Given the description of an element on the screen output the (x, y) to click on. 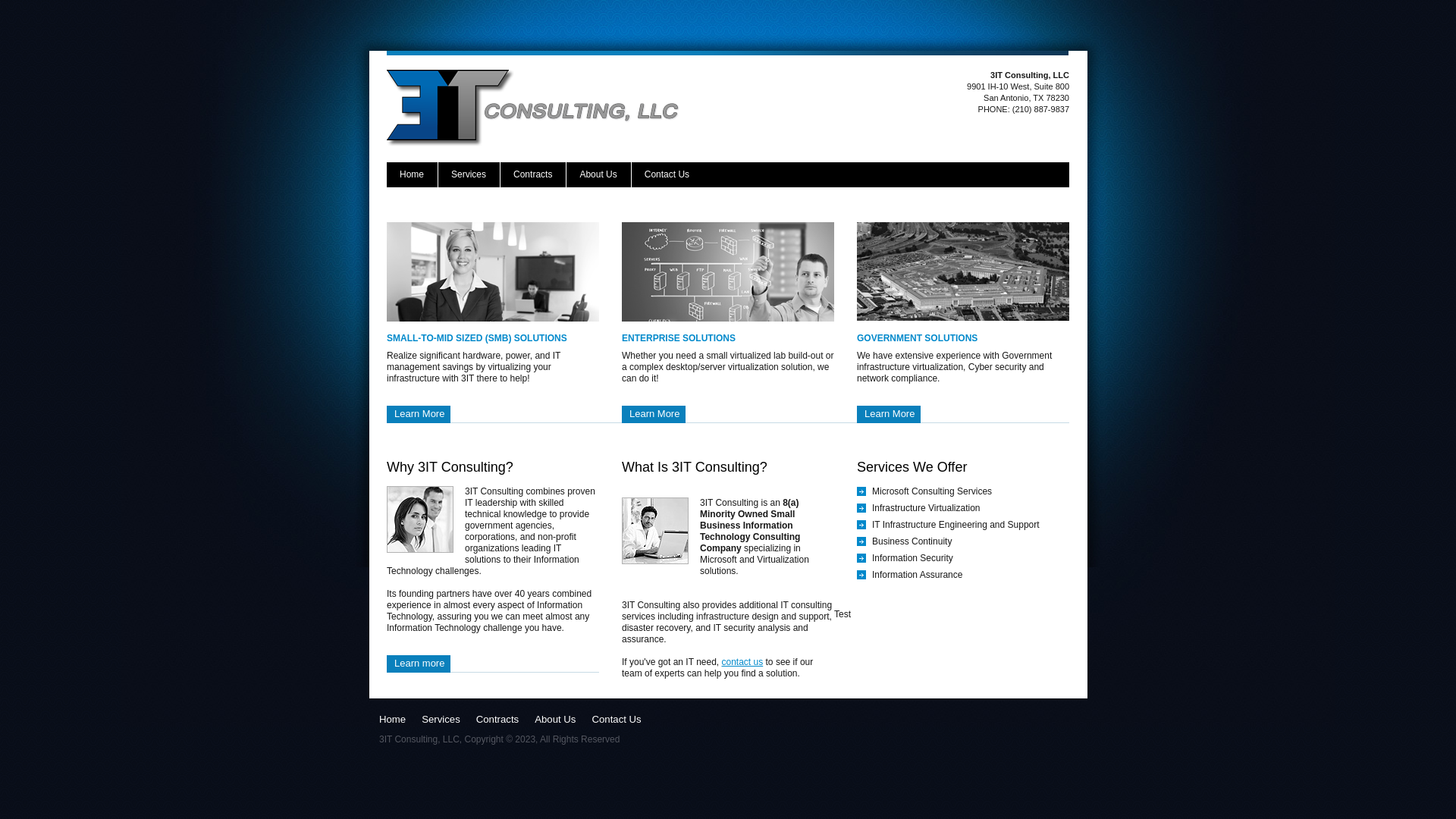
Infrastructure Virtualization Element type: text (926, 507)
Learn More Element type: text (418, 414)
Contracts Element type: text (497, 719)
Learn More Element type: text (653, 414)
About Us Element type: text (554, 719)
Learn more Element type: text (418, 663)
Contracts Element type: text (532, 174)
About Us Element type: text (598, 174)
Services Element type: text (468, 174)
Contact Us Element type: text (615, 719)
Services Element type: text (440, 719)
contact us Element type: text (742, 661)
Contact Us Element type: text (666, 174)
Home Element type: text (392, 719)
Home Element type: text (411, 174)
Learn More Element type: text (888, 414)
